Given the description of an element on the screen output the (x, y) to click on. 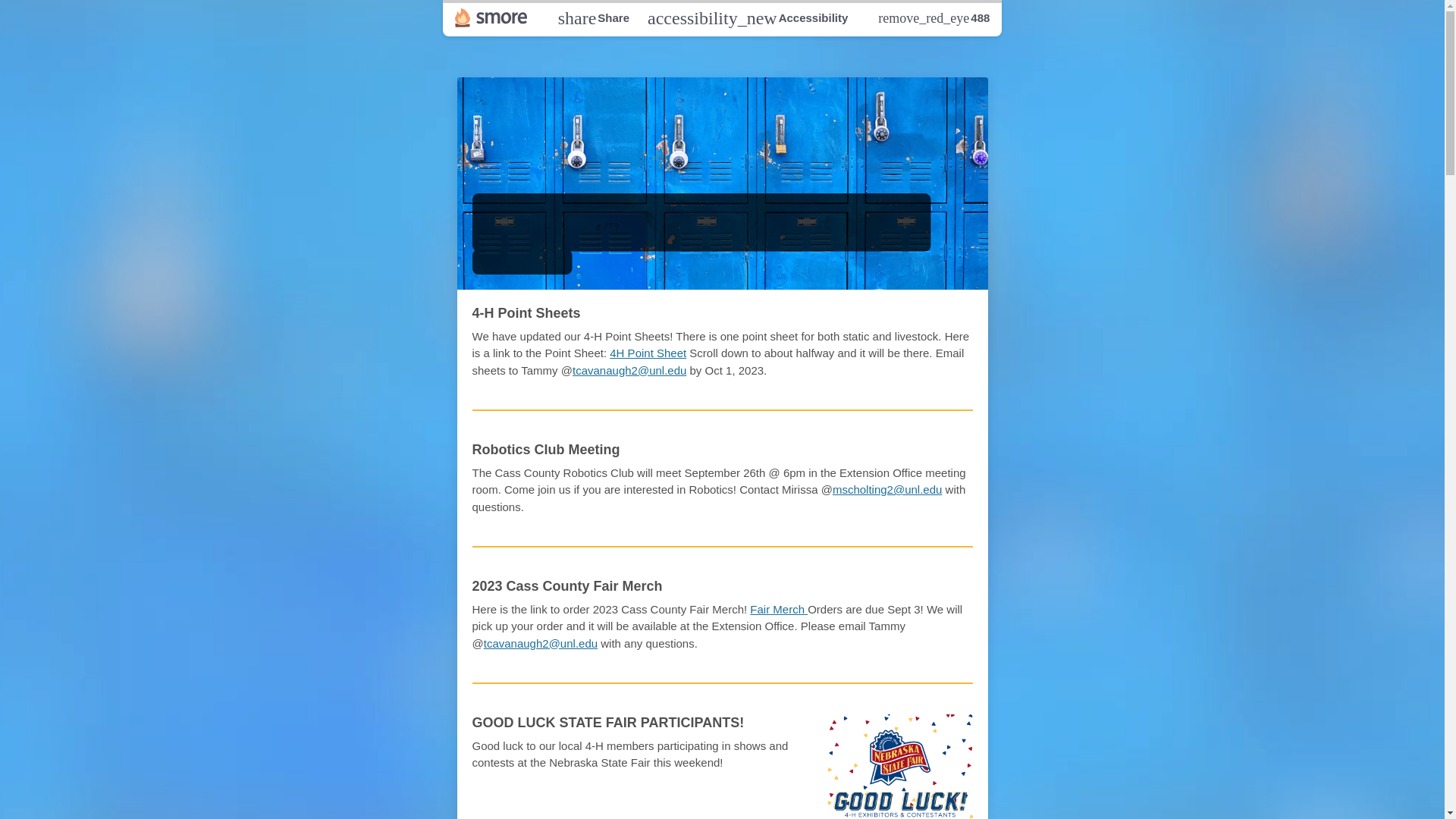
Fair Merch (592, 18)
4H Point Sheet (778, 608)
